Given the description of an element on the screen output the (x, y) to click on. 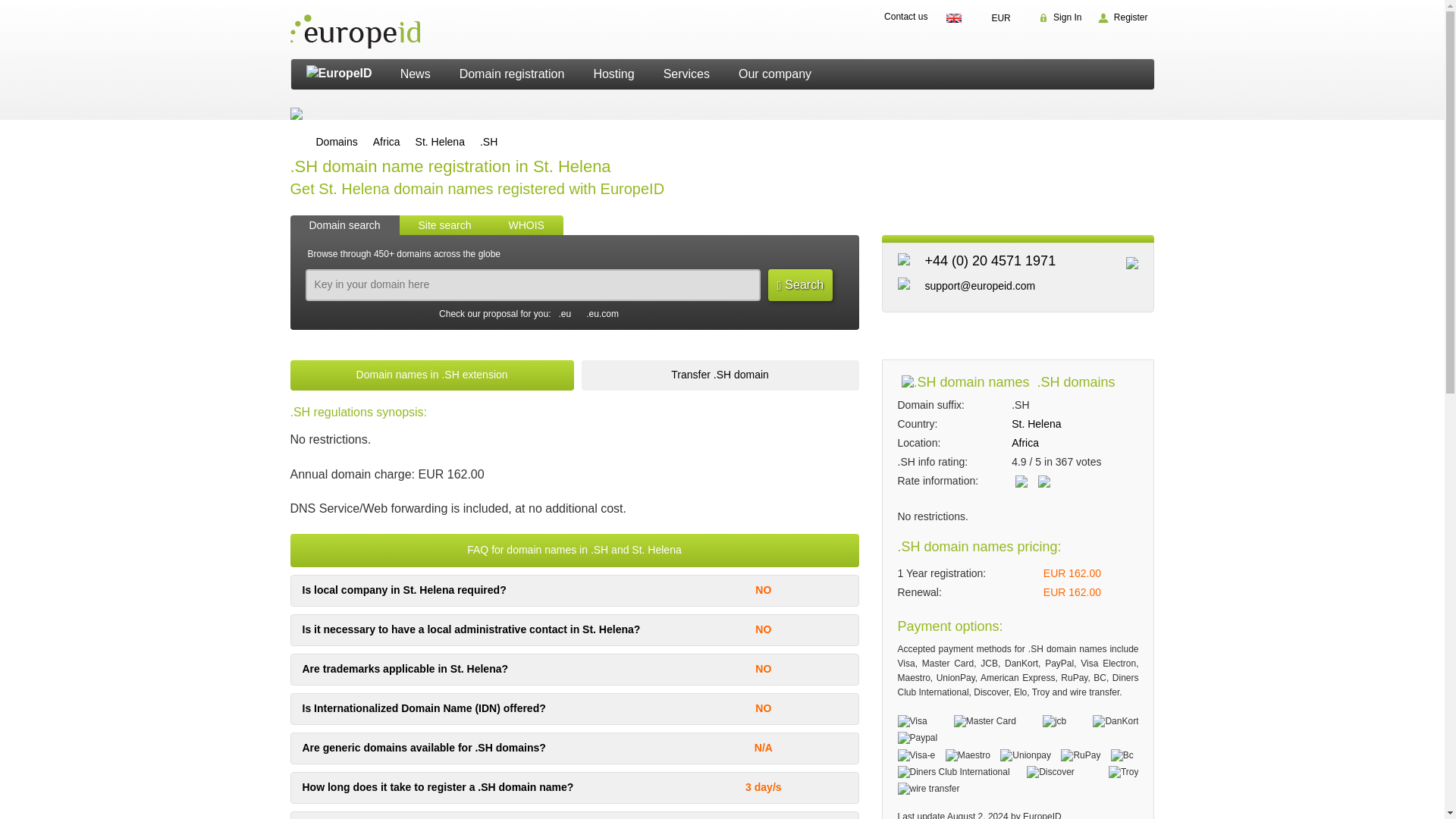
Domains in St. Helena (439, 142)
.SH domains (488, 142)
Register (1123, 16)
Services (686, 73)
News (415, 73)
EUR (1005, 18)
Domain names (335, 142)
EuropeID (339, 73)
Domain names in .SH extension (431, 375)
Hosting (612, 73)
